Given the description of an element on the screen output the (x, y) to click on. 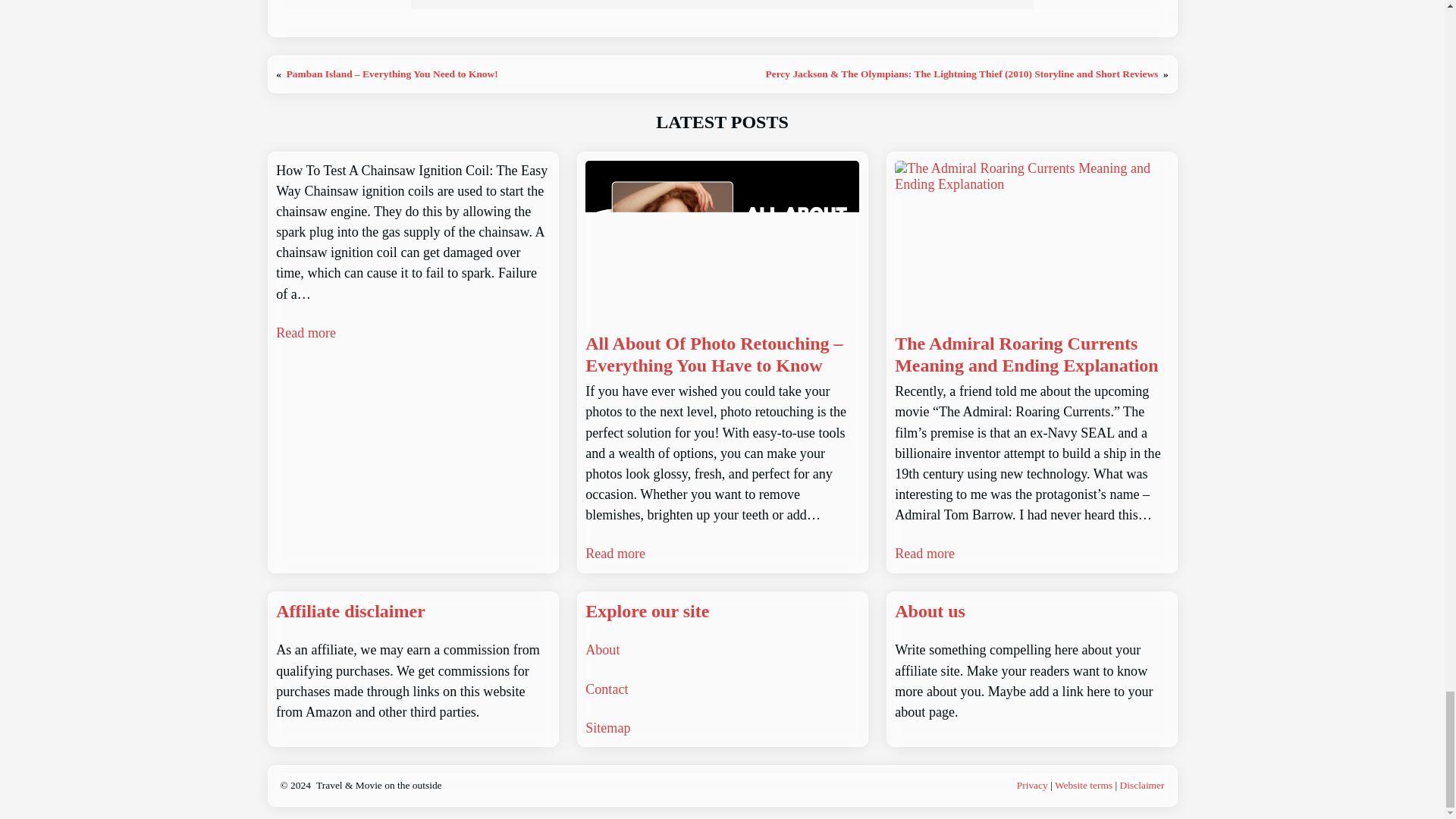
Website terms (1083, 785)
The Admiral Roaring Currents Meaning and Ending Explanation (1032, 354)
Read more (306, 332)
Read more (925, 553)
Disclaimer (1141, 785)
About (602, 649)
Contact (606, 688)
Read more (615, 553)
Sitemap (607, 727)
Privacy (1032, 785)
